Given the description of an element on the screen output the (x, y) to click on. 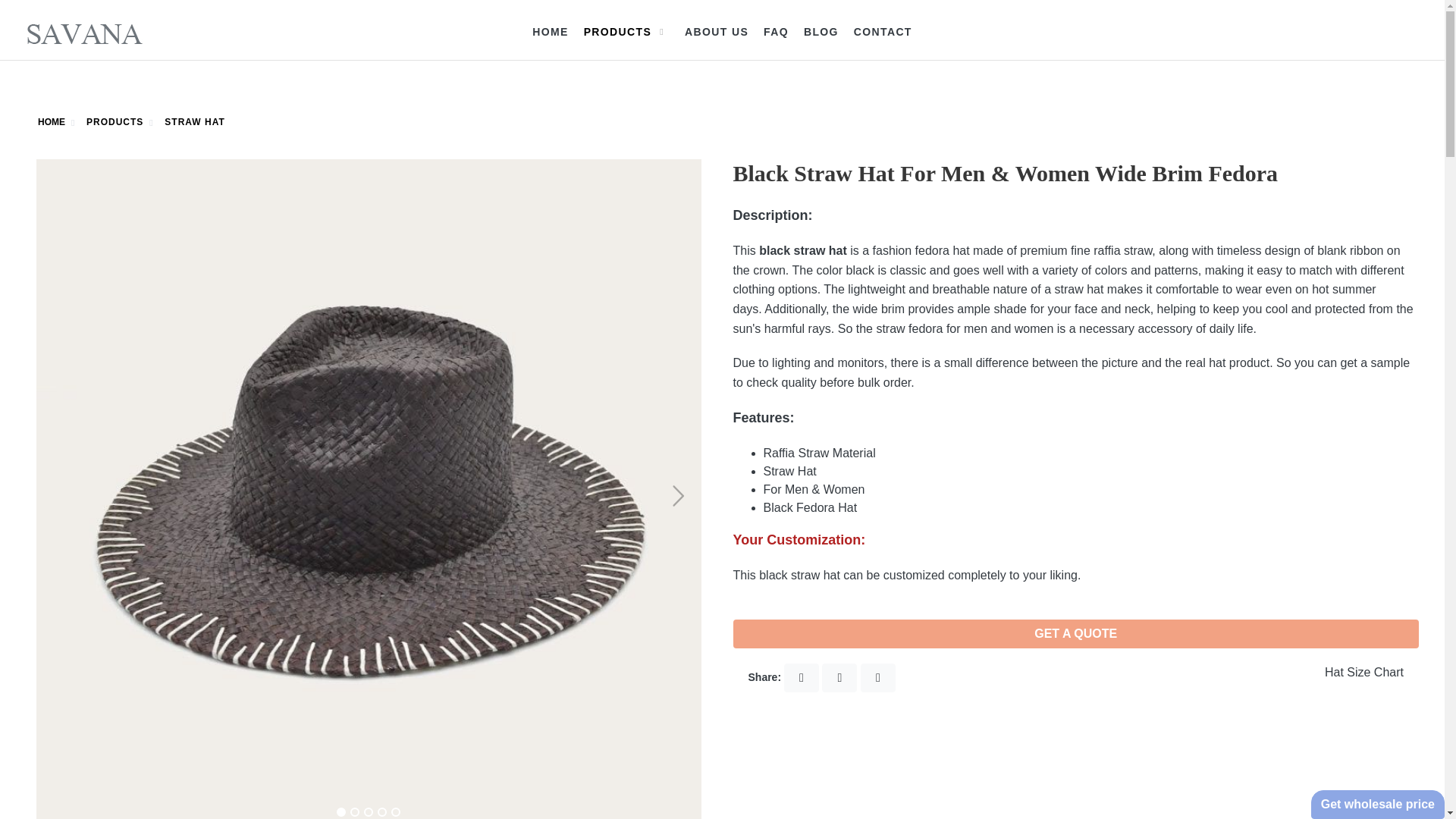
HOME (51, 121)
BLOG (820, 31)
PRODUCTS (113, 121)
PRODUCTS (626, 31)
HOME (549, 31)
CONTACT (882, 31)
ABOUT US (716, 31)
STRAW HAT (194, 121)
FAQ (775, 31)
